Given the description of an element on the screen output the (x, y) to click on. 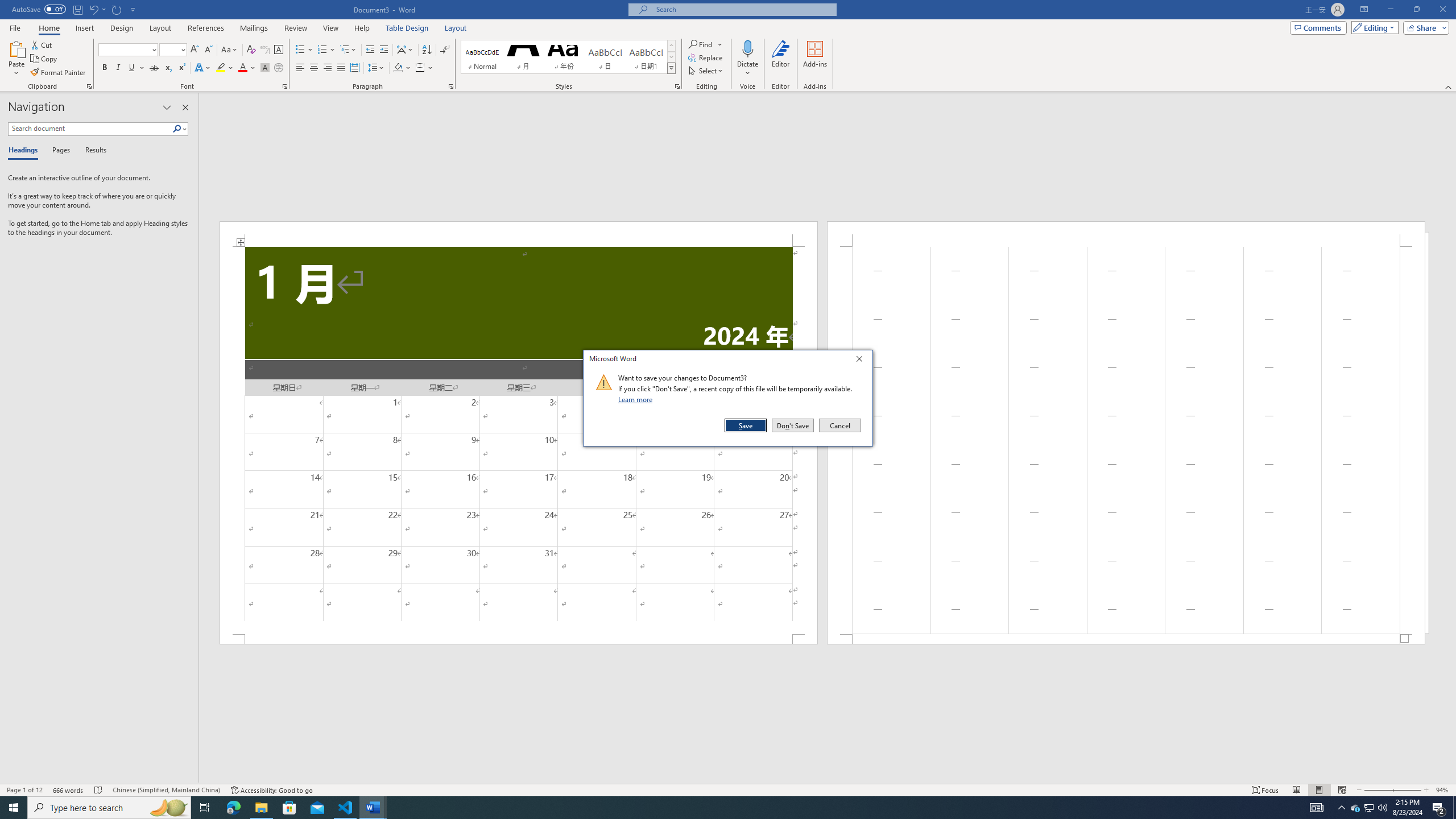
Q2790: 100% (1382, 807)
Shading RGB(0, 0, 0) (397, 67)
Cut (42, 44)
Styles... (676, 85)
Word - 2 running windows (373, 807)
